Given the description of an element on the screen output the (x, y) to click on. 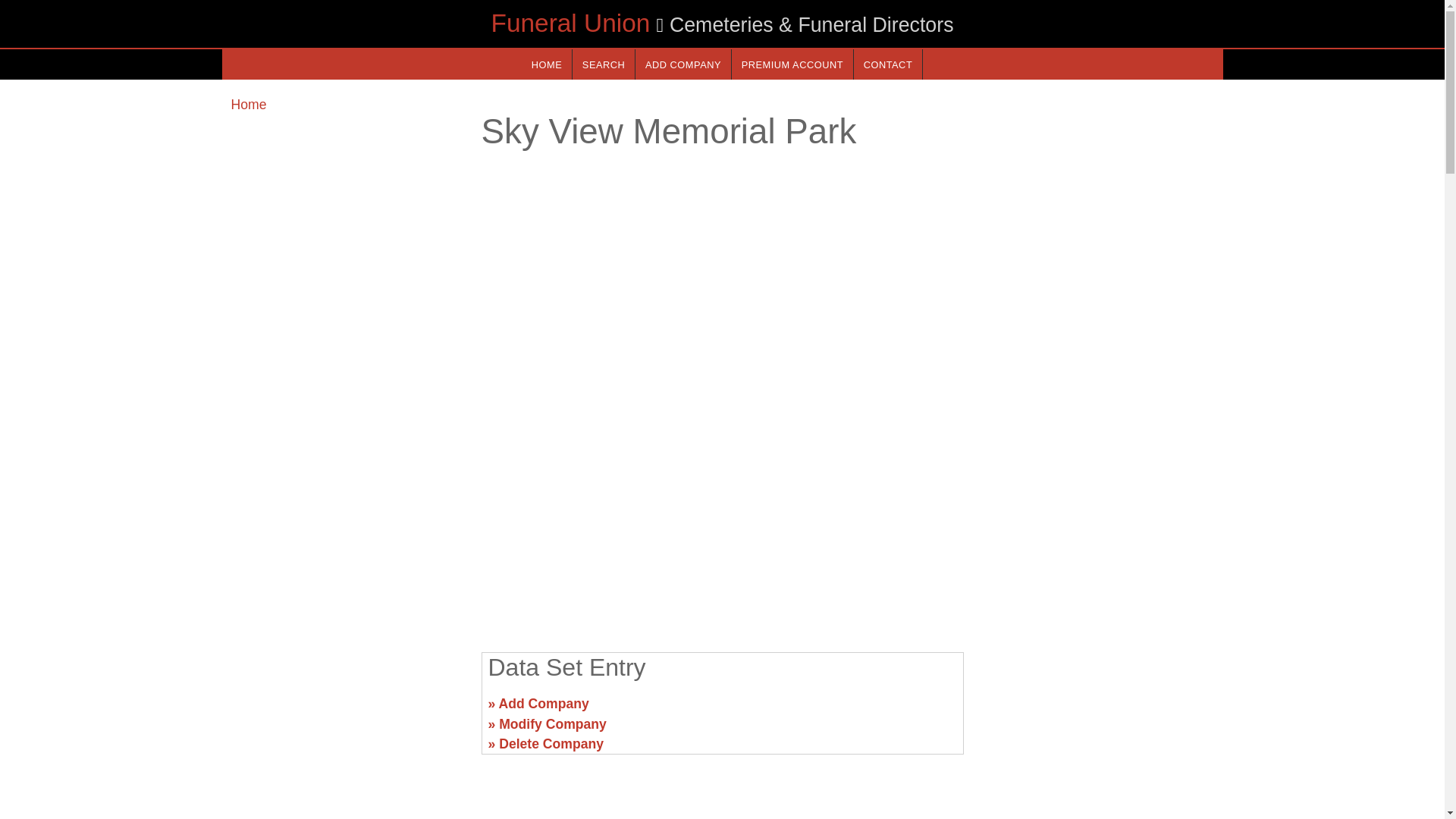
PREMIUM ACCOUNT (792, 64)
Funeral Union (569, 22)
HOME (546, 64)
Advertisement (721, 522)
CONTACT (887, 64)
Add a new company (682, 64)
Advertisement (1096, 710)
Premium account (792, 64)
Home (248, 104)
